Given the description of an element on the screen output the (x, y) to click on. 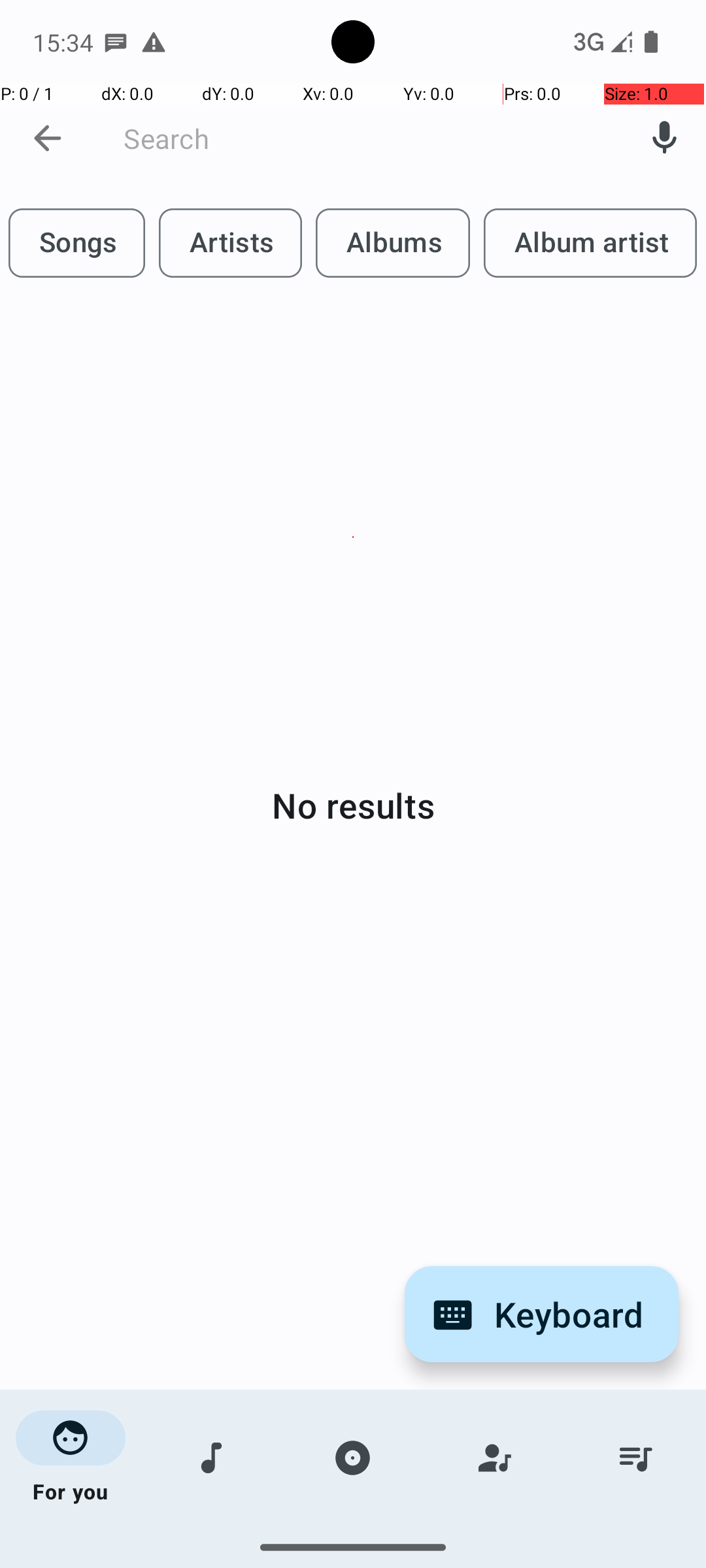
No results Element type: android.widget.TextView (352, 805)
Keyboard Element type: android.widget.Button (541, 1314)
For you Element type: android.widget.FrameLayout (70, 1457)
Songs Element type: android.widget.FrameLayout (211, 1457)
Albums Element type: android.widget.FrameLayout (352, 1457)
Artists Element type: android.widget.FrameLayout (493, 1457)
Album artist Element type: android.widget.RadioButton (589, 242)
